Given the description of an element on the screen output the (x, y) to click on. 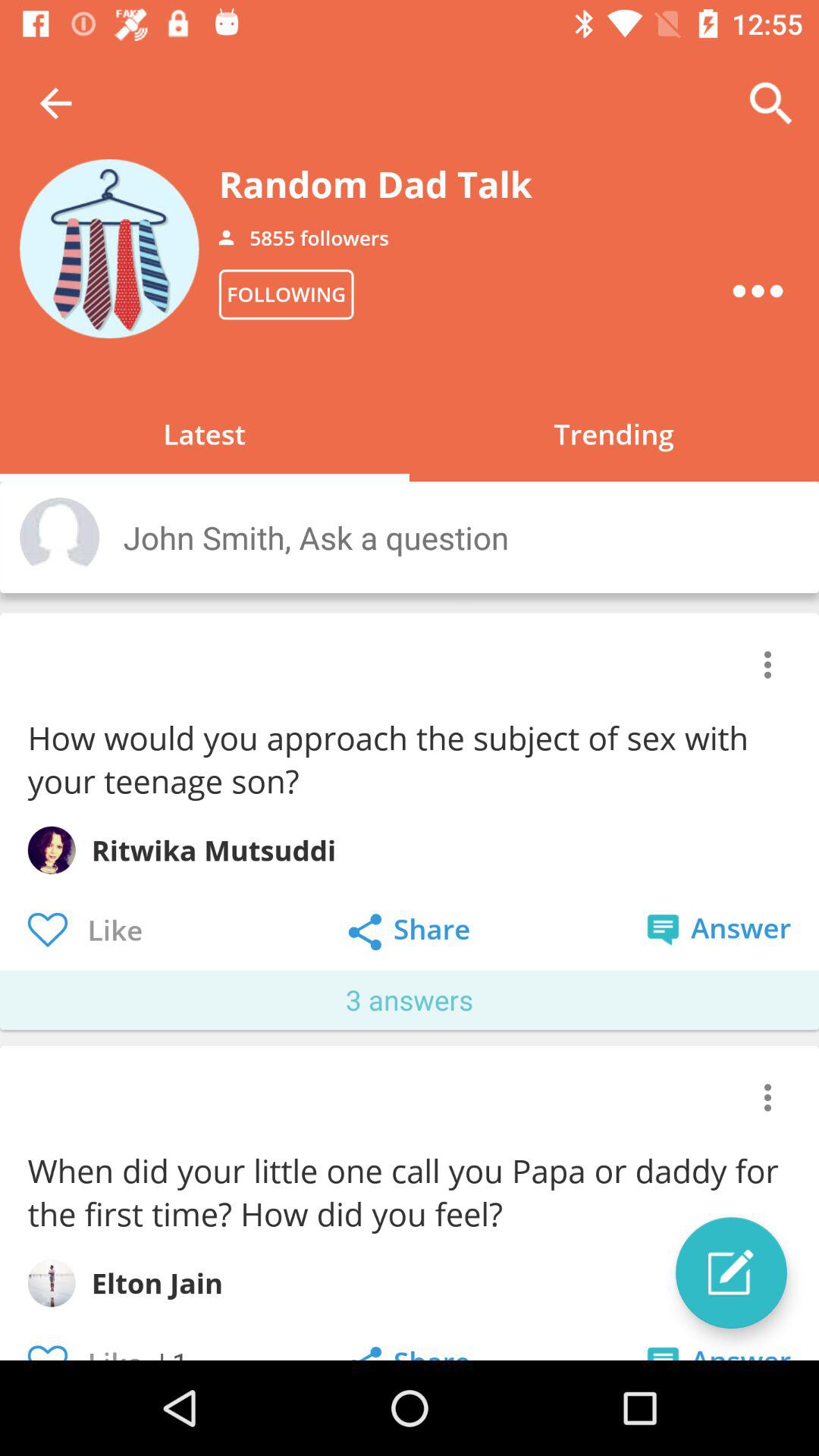
turn on the icon below latest item (455, 537)
